Given the description of an element on the screen output the (x, y) to click on. 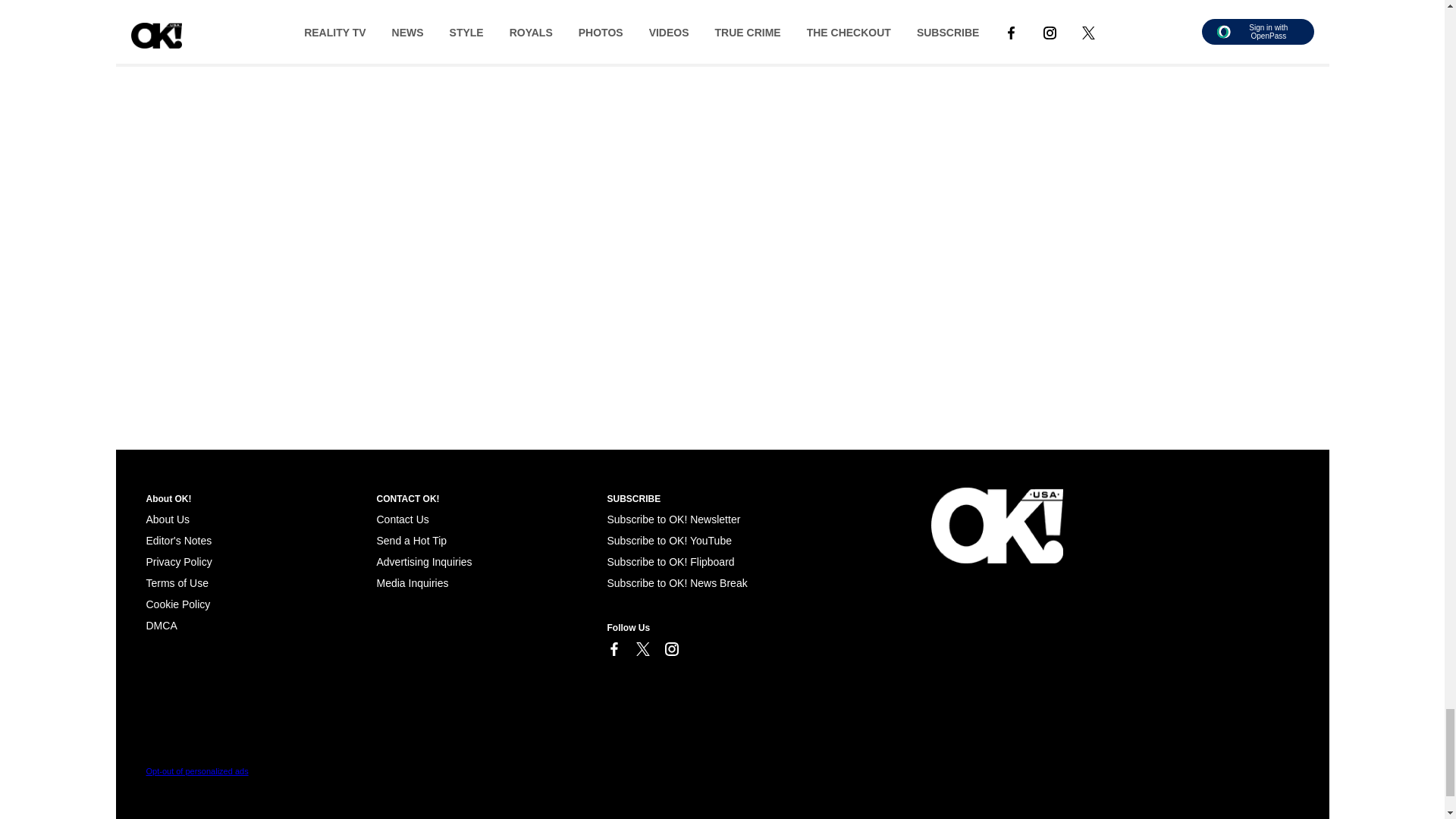
Link to X (641, 649)
Privacy Policy (178, 562)
Link to Instagram (670, 649)
About Us (167, 519)
Editor's Notes (178, 540)
Cookie Policy (177, 604)
Terms of Use (176, 582)
Cookie Policy (160, 625)
Link to Facebook (613, 649)
